Given the description of an element on the screen output the (x, y) to click on. 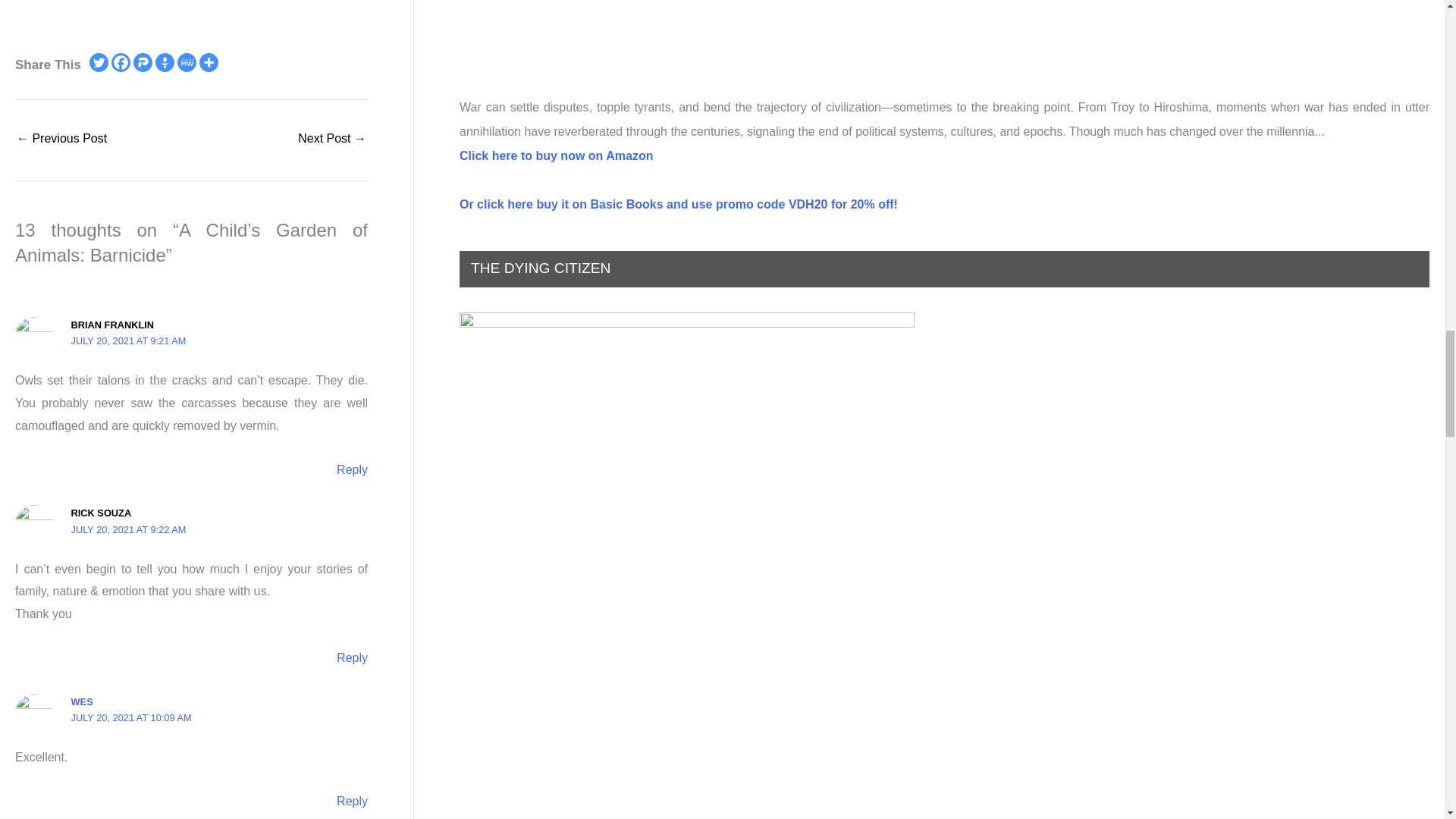
Facebook (121, 62)
Gettr (164, 62)
The Classicist: World War II Reconsidered (332, 139)
Twitter (97, 62)
Parler (142, 62)
MeWe (186, 62)
More (208, 62)
